Given the description of an element on the screen output the (x, y) to click on. 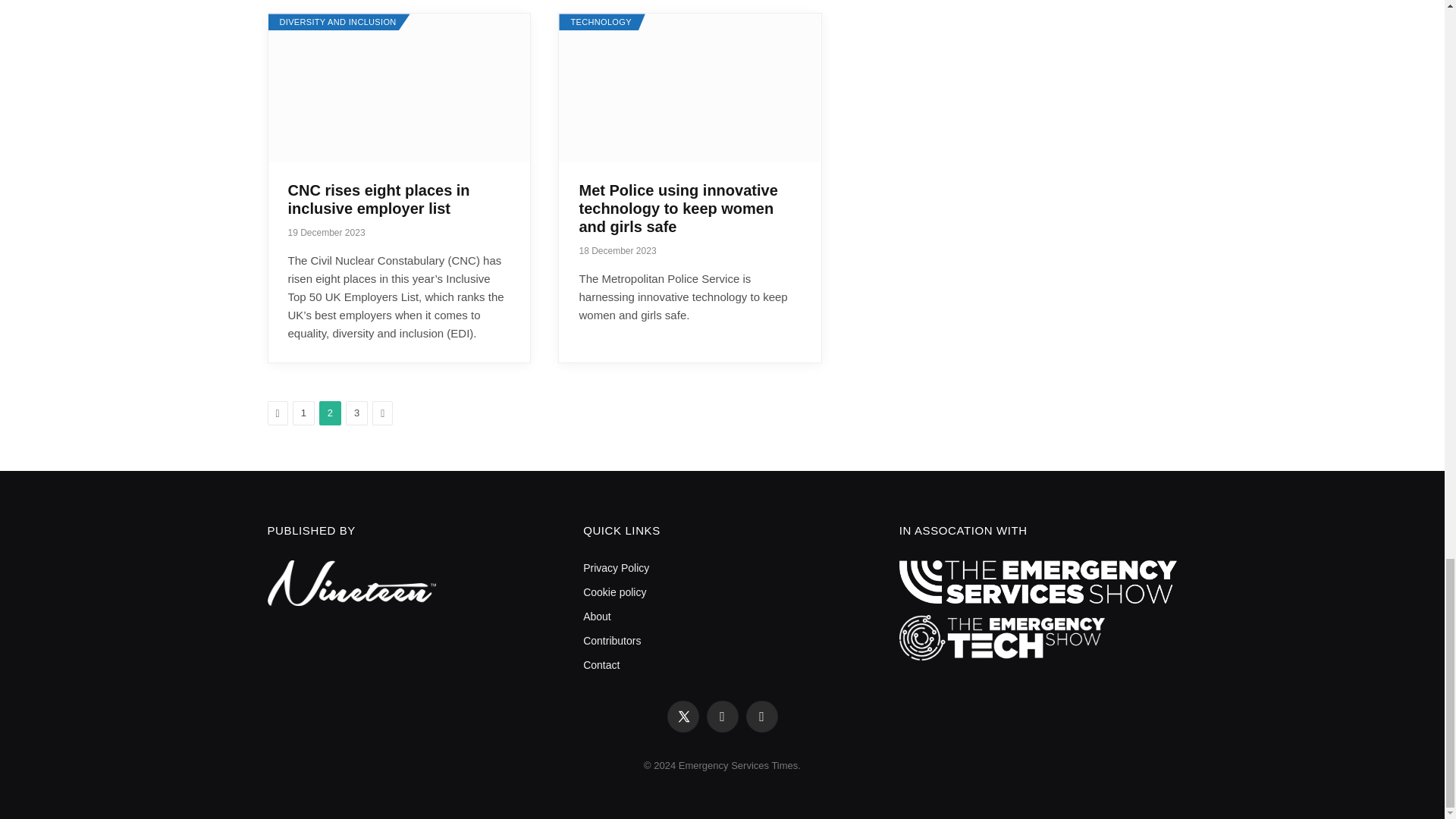
CNC rises eight places in inclusive employer list (399, 87)
